Given the description of an element on the screen output the (x, y) to click on. 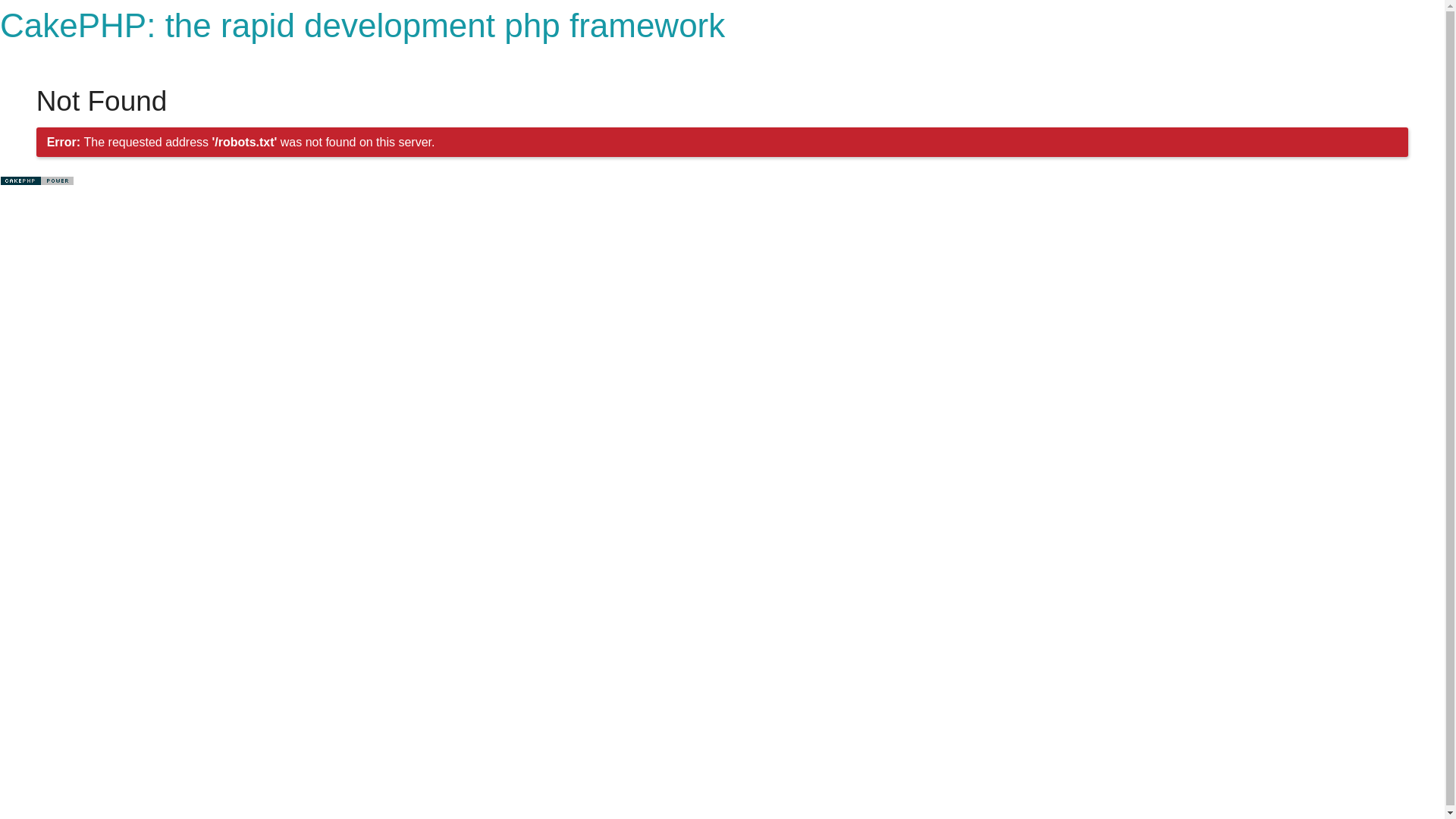
CakePHP: the rapid development php framework Element type: text (362, 24)
